Given the description of an element on the screen output the (x, y) to click on. 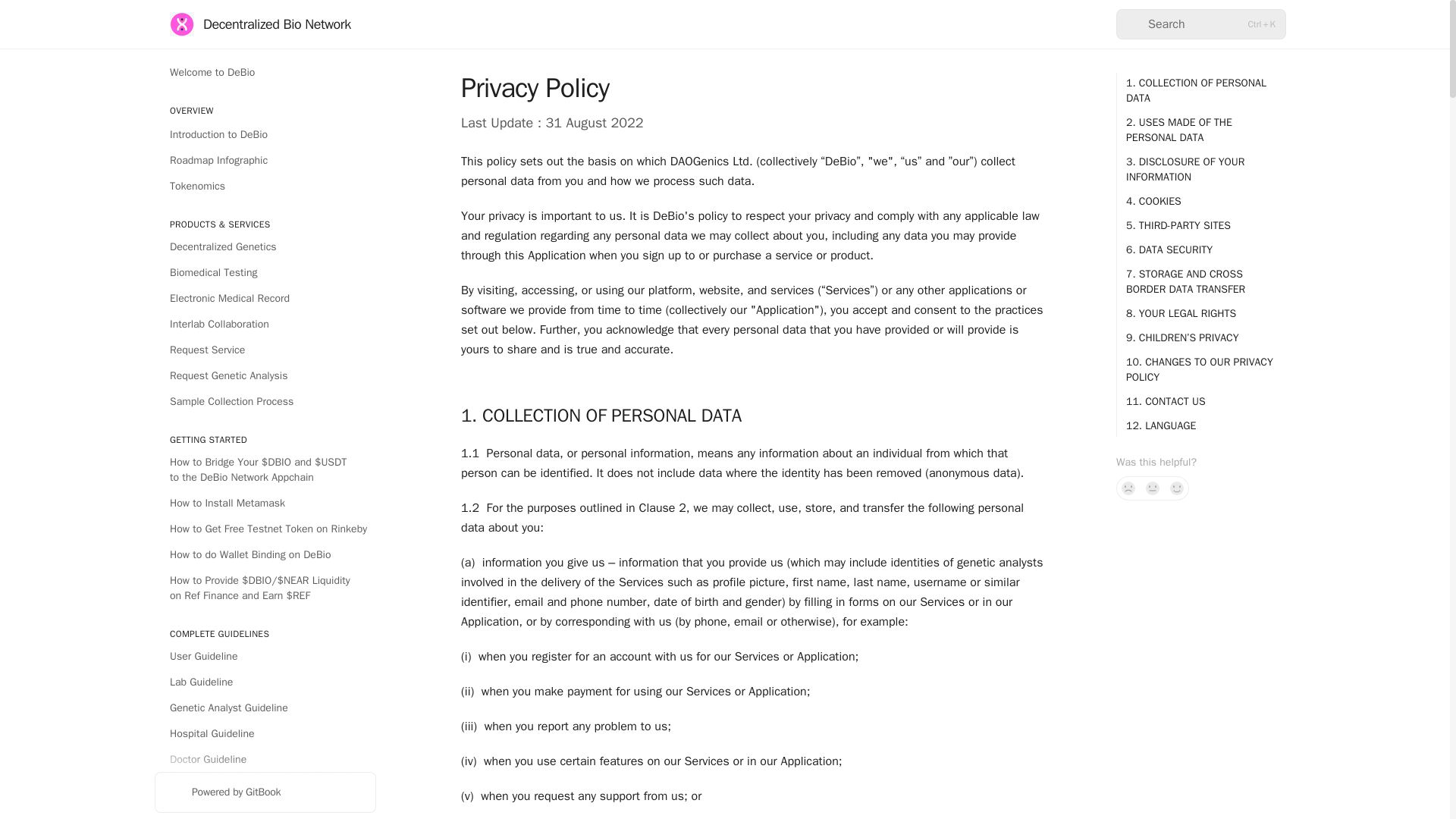
Yes, it was! (1176, 487)
Decentralized Genetics (264, 247)
Welcome to DeBio (264, 72)
Tokenomics (264, 186)
Request Genetic Analysis (264, 375)
Sample Collection Process (264, 401)
Biomedical Testing (264, 273)
Interlab Collaboration (264, 324)
How to Install Metamask (264, 503)
Lab Guideline (264, 682)
